Given the description of an element on the screen output the (x, y) to click on. 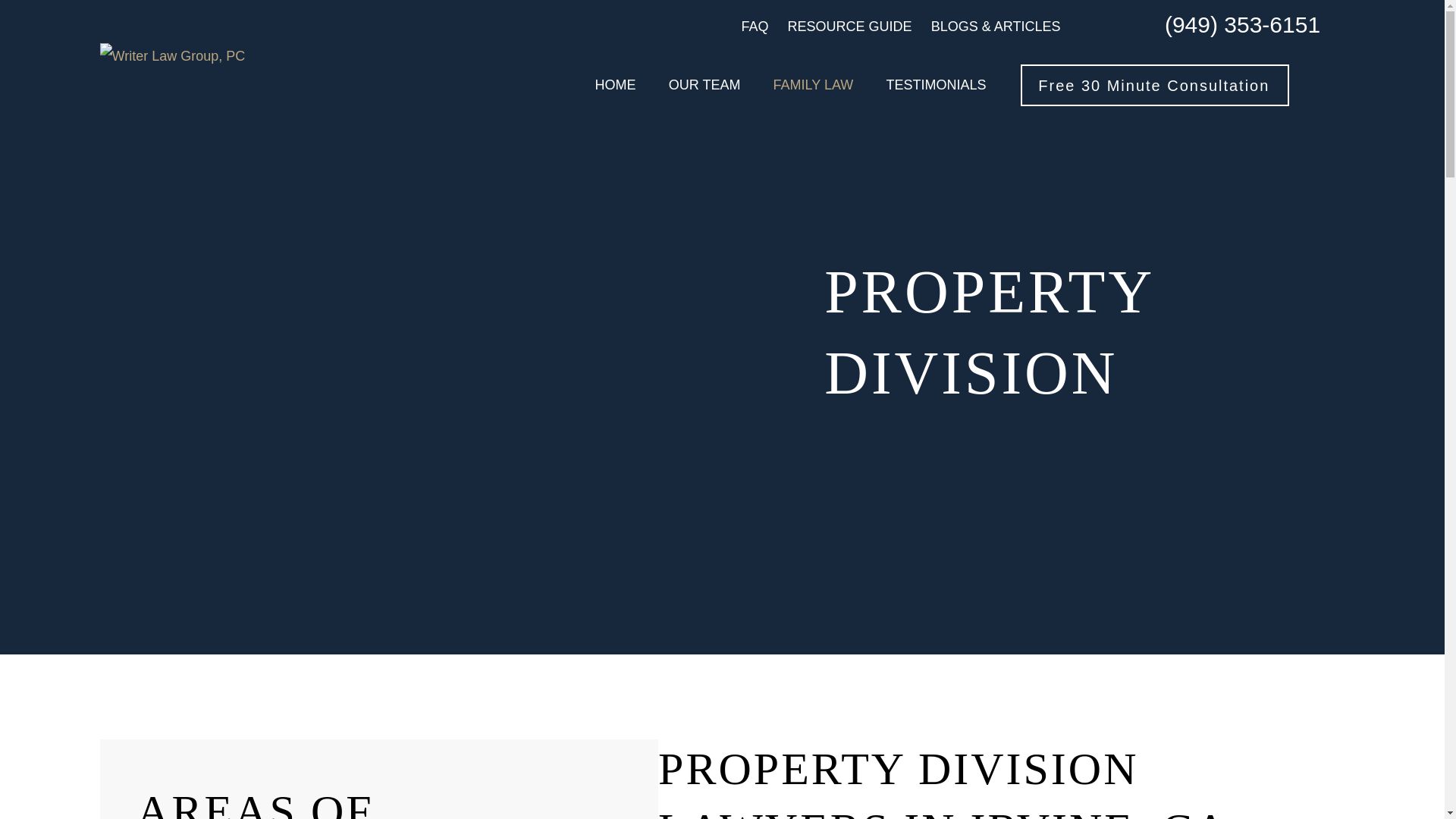
HOME (615, 85)
OUR TEAM (704, 85)
FAMILY LAW (813, 85)
TESTIMONIALS (935, 85)
Open the accessibility options menu (1423, 798)
Free 30 Minute Consultation (1170, 85)
FAQ (754, 26)
RESOURCE GUIDE (849, 26)
Writer Law Group, PC (173, 55)
